Given the description of an element on the screen output the (x, y) to click on. 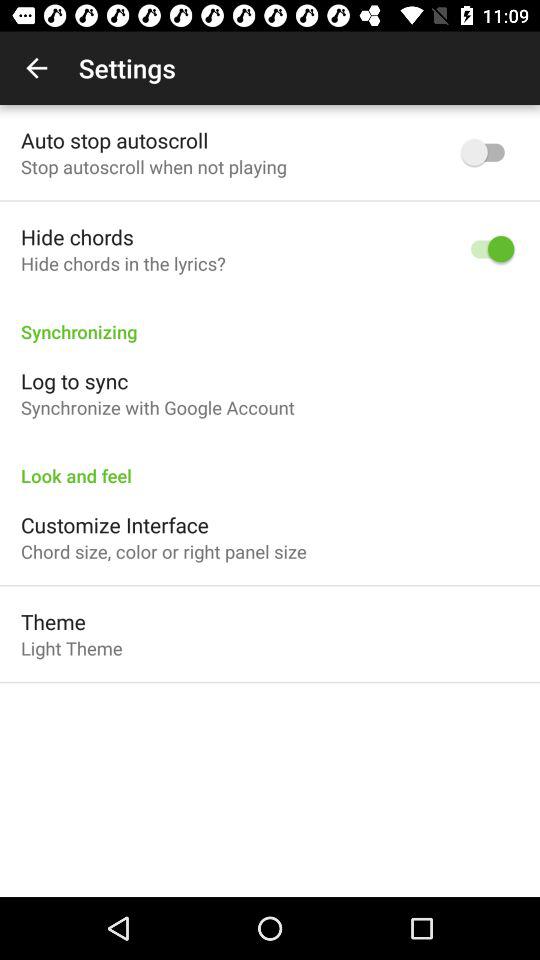
select the icon below look and feel (114, 524)
